Given the description of an element on the screen output the (x, y) to click on. 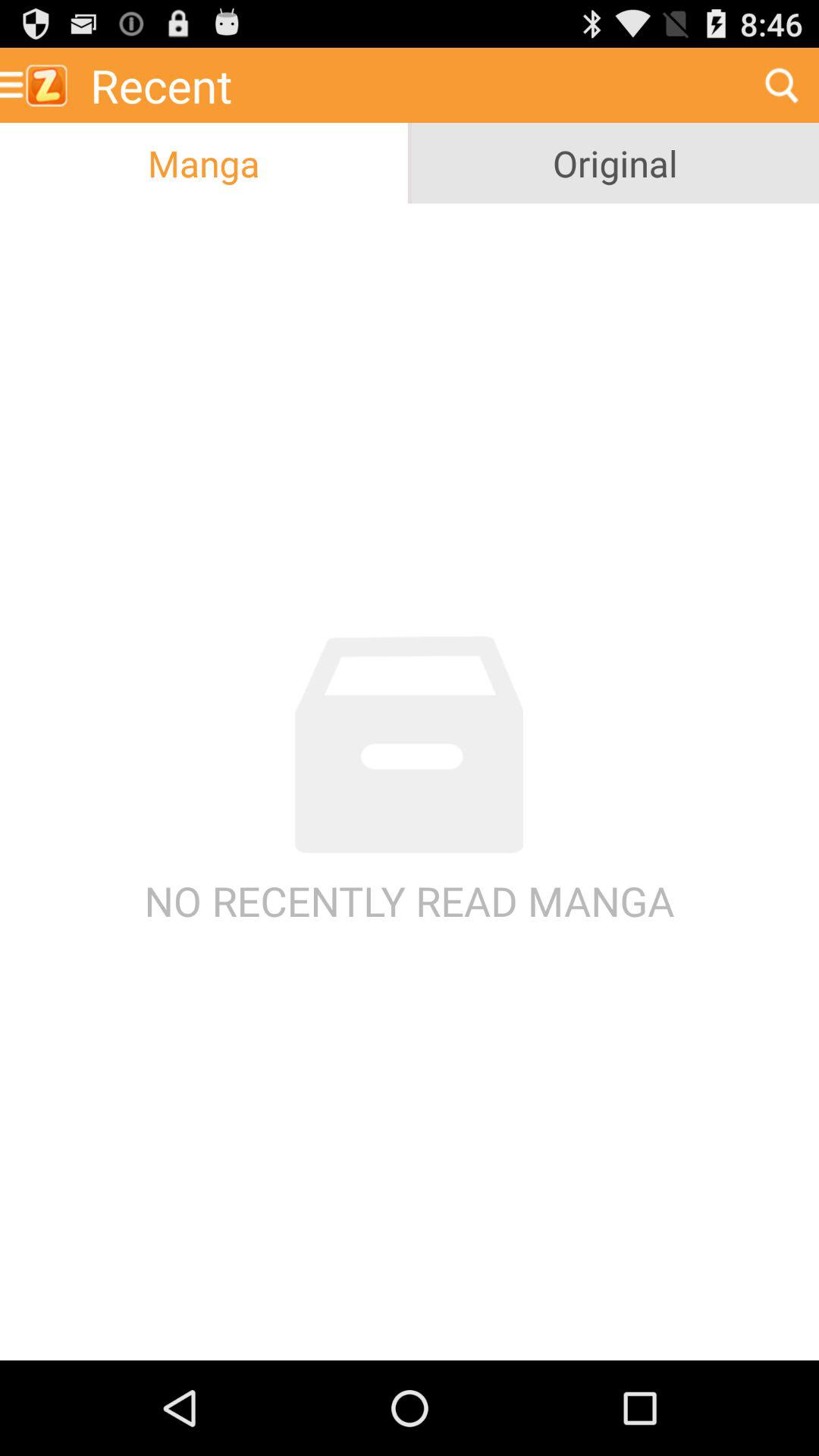
click icon above manga (40, 84)
